Given the description of an element on the screen output the (x, y) to click on. 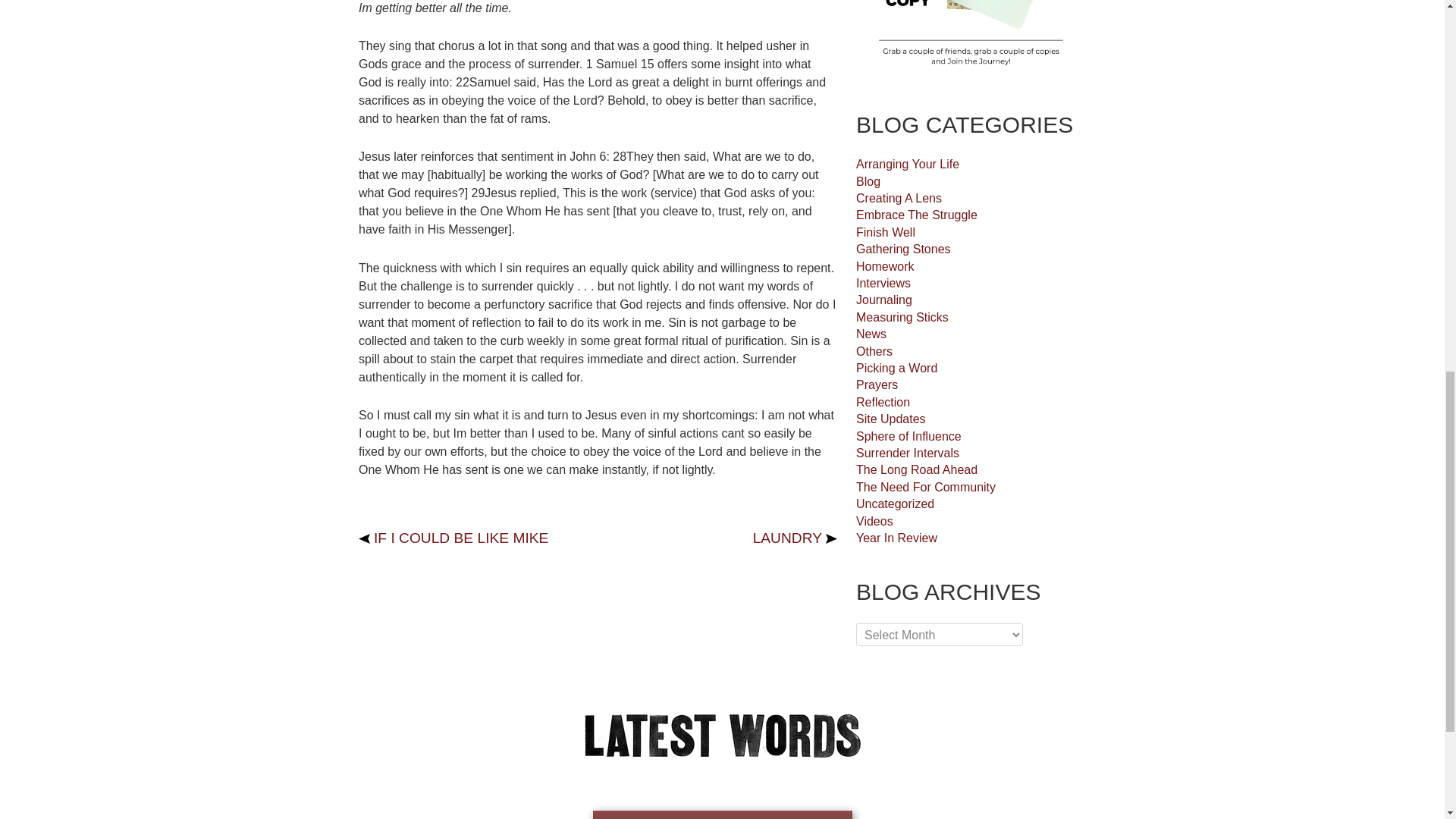
Gathering Stones (903, 248)
IF I COULD BE LIKE MIKE (453, 538)
Blog (868, 181)
Prayers (877, 384)
Arranging Your Life (907, 164)
Homework (885, 266)
Journaling (884, 299)
Others (874, 350)
Measuring Sticks (902, 317)
Finish Well (885, 232)
Creating A Lens (899, 197)
Embrace The Struggle (916, 214)
Interviews (883, 282)
LAUNDRY (794, 538)
Picking a Word (896, 367)
